Given the description of an element on the screen output the (x, y) to click on. 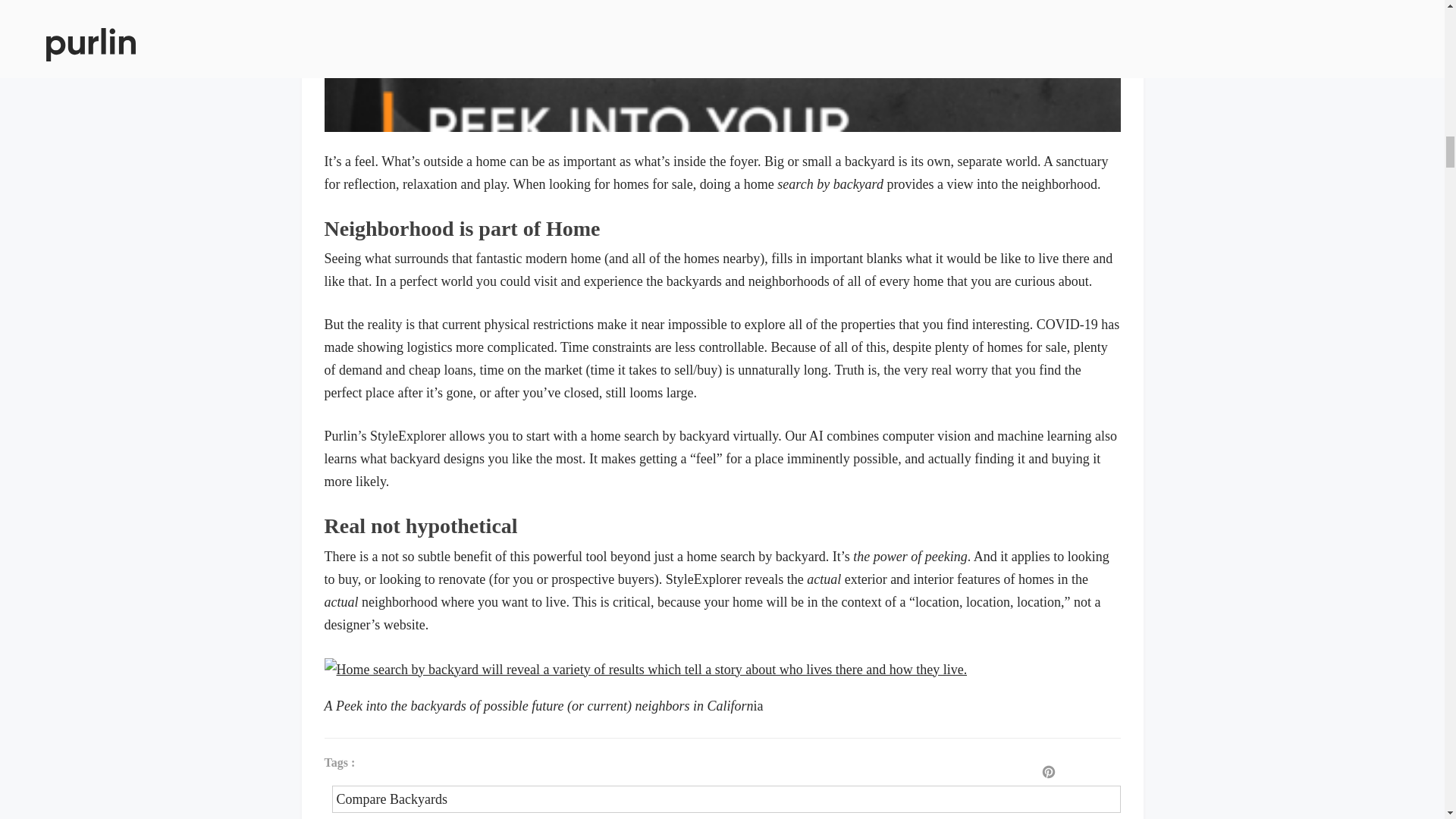
Pinterest (1047, 772)
Facebook (1074, 772)
LinkedIn (1127, 772)
Twitter (1101, 772)
LinkedIn (1127, 772)
Facebook (1074, 772)
Twitter (1101, 772)
Pinterest (1047, 772)
Compare Backyards (726, 799)
